Given the description of an element on the screen output the (x, y) to click on. 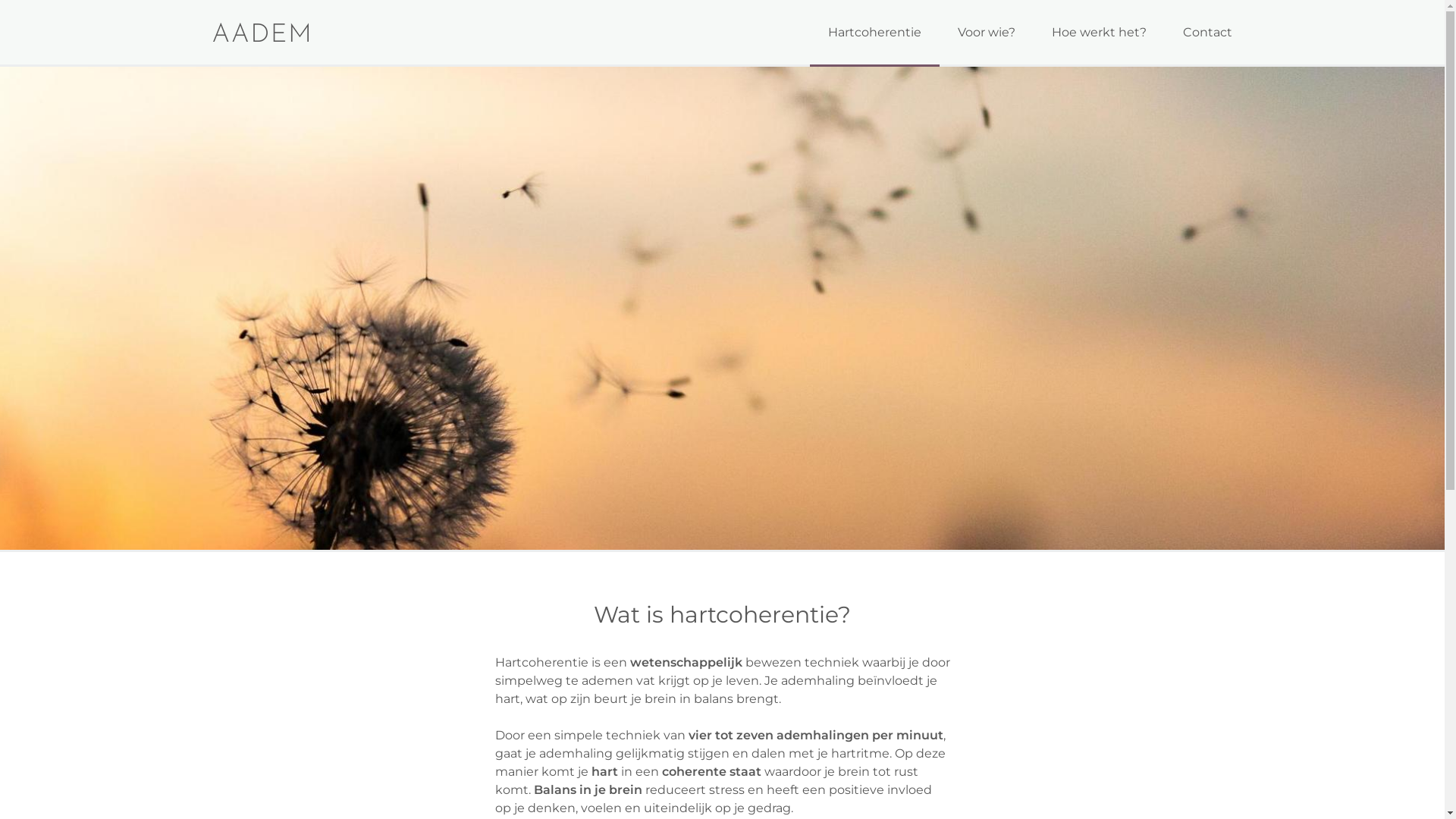
Contact Element type: text (1207, 33)
Hartcoherentie Element type: text (874, 33)
Hoe werkt het? Element type: text (1098, 33)
Voor wie? Element type: text (985, 33)
